Given the description of an element on the screen output the (x, y) to click on. 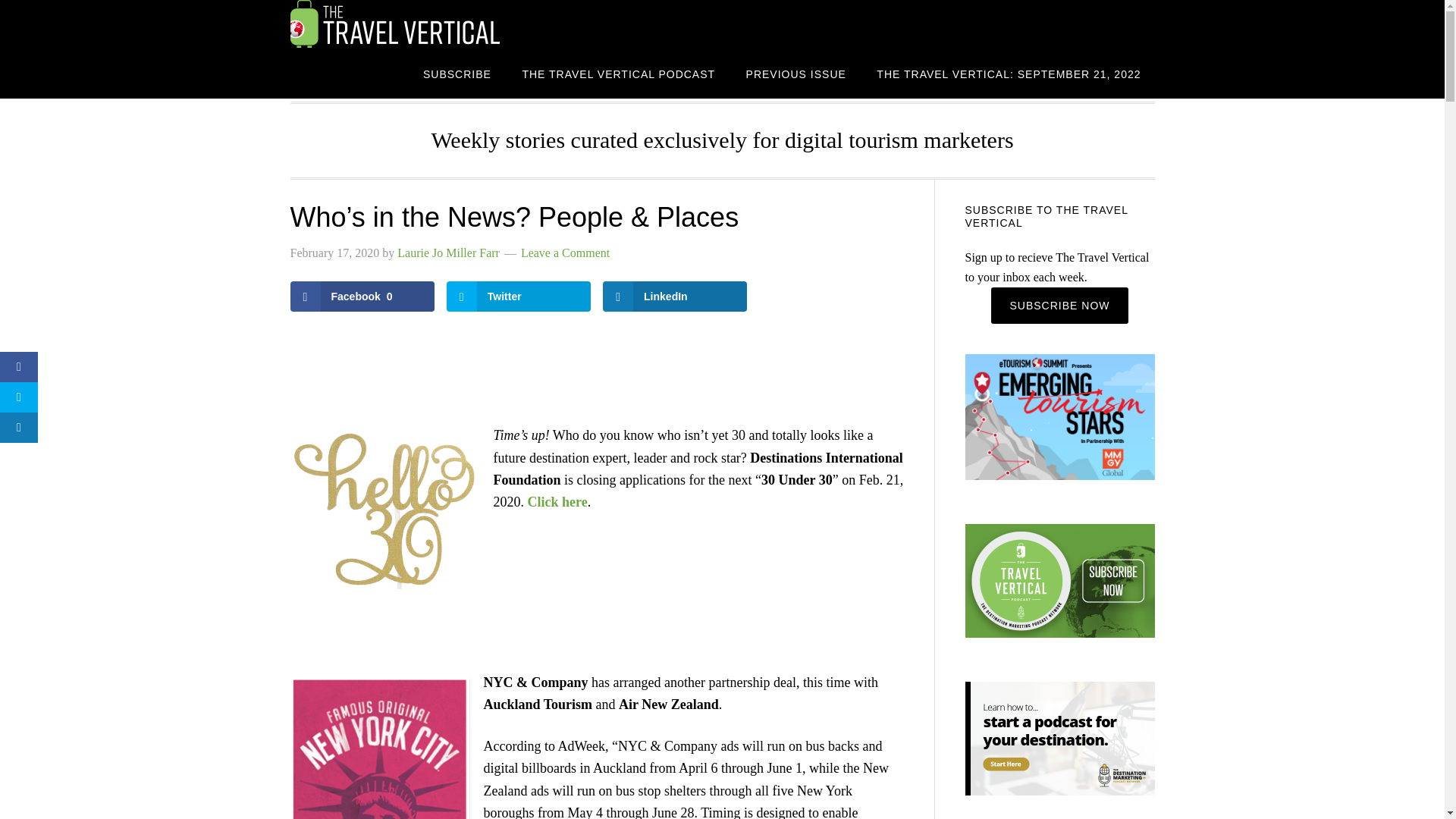
Subscribe Now (1058, 305)
LinkedIn (674, 296)
PREVIOUS ISSUE (796, 73)
THE TRAVEL VERTICAL (410, 24)
Leave a Comment (565, 252)
Click here (557, 501)
SUBSCRIBE (457, 73)
Facebook 0 (361, 296)
THE TRAVEL VERTICAL: SEPTEMBER 21, 2022 (1008, 73)
THE TRAVEL VERTICAL PODCAST (618, 73)
